Given the description of an element on the screen output the (x, y) to click on. 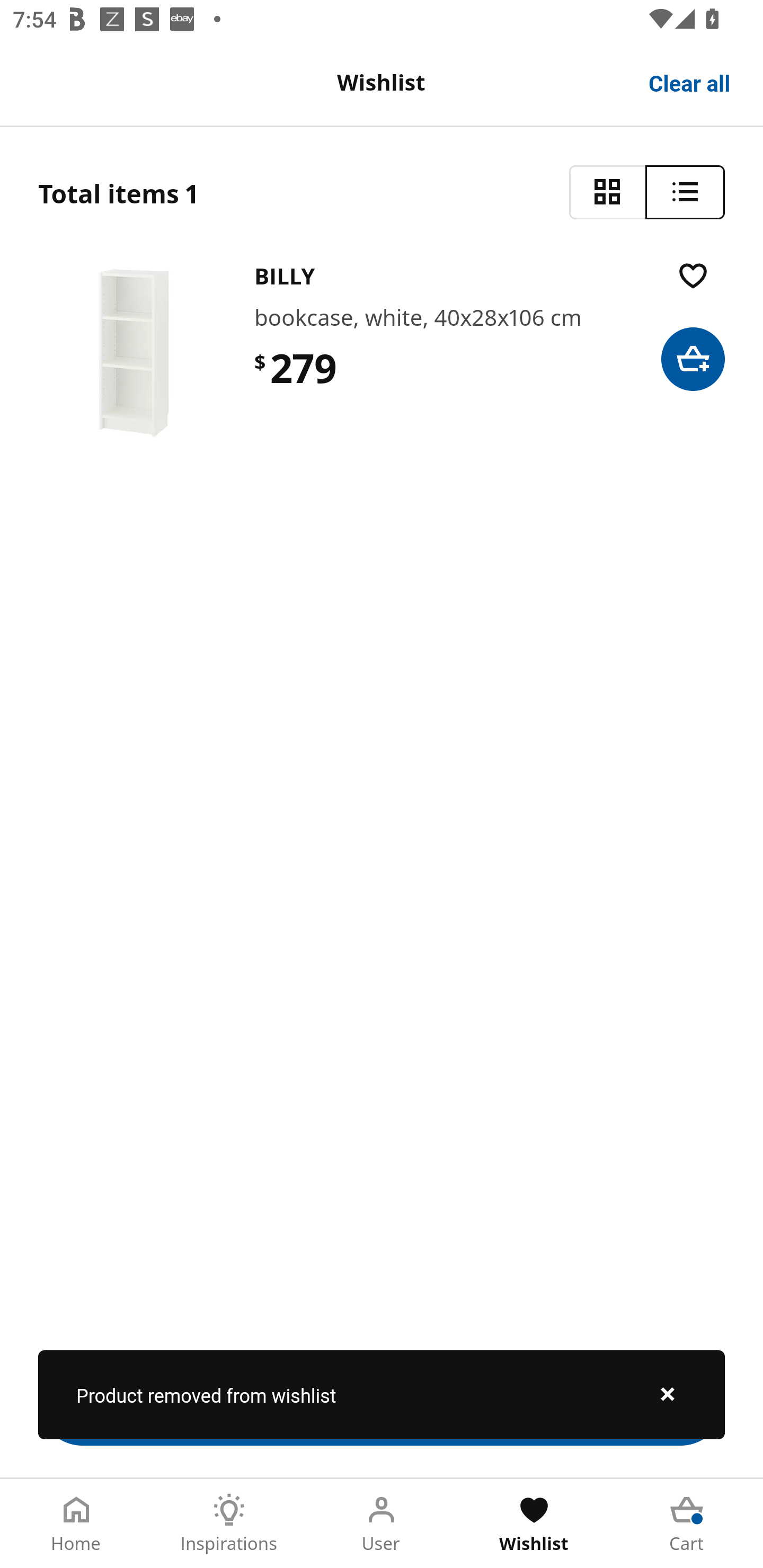
Clear all (689, 81)
​B​I​L​L​Y​
bookcase, white, 40x28x106 cm
$
279 (381, 352)
Product removed from wishlist (381, 1394)
Home
Tab 1 of 5 (76, 1522)
Inspirations
Tab 2 of 5 (228, 1522)
User
Tab 3 of 5 (381, 1522)
Wishlist
Tab 4 of 5 (533, 1522)
Cart
Tab 5 of 5 (686, 1522)
